Given the description of an element on the screen output the (x, y) to click on. 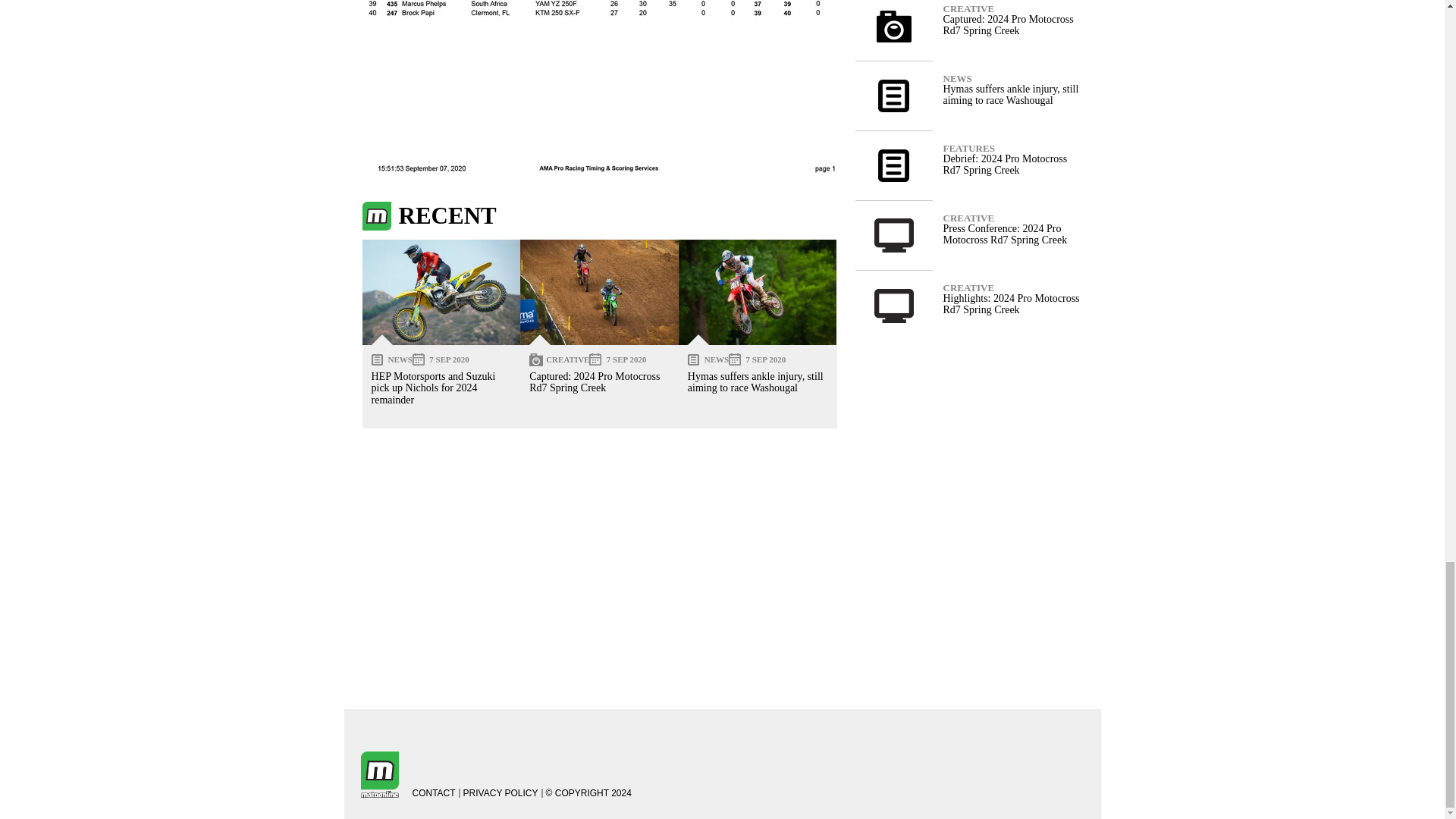
Captured: 2024 Pro Motocross Rd7 Spring Creek (598, 291)
Hymas suffers ankle injury, still aiming to race Washougal (757, 291)
